Given the description of an element on the screen output the (x, y) to click on. 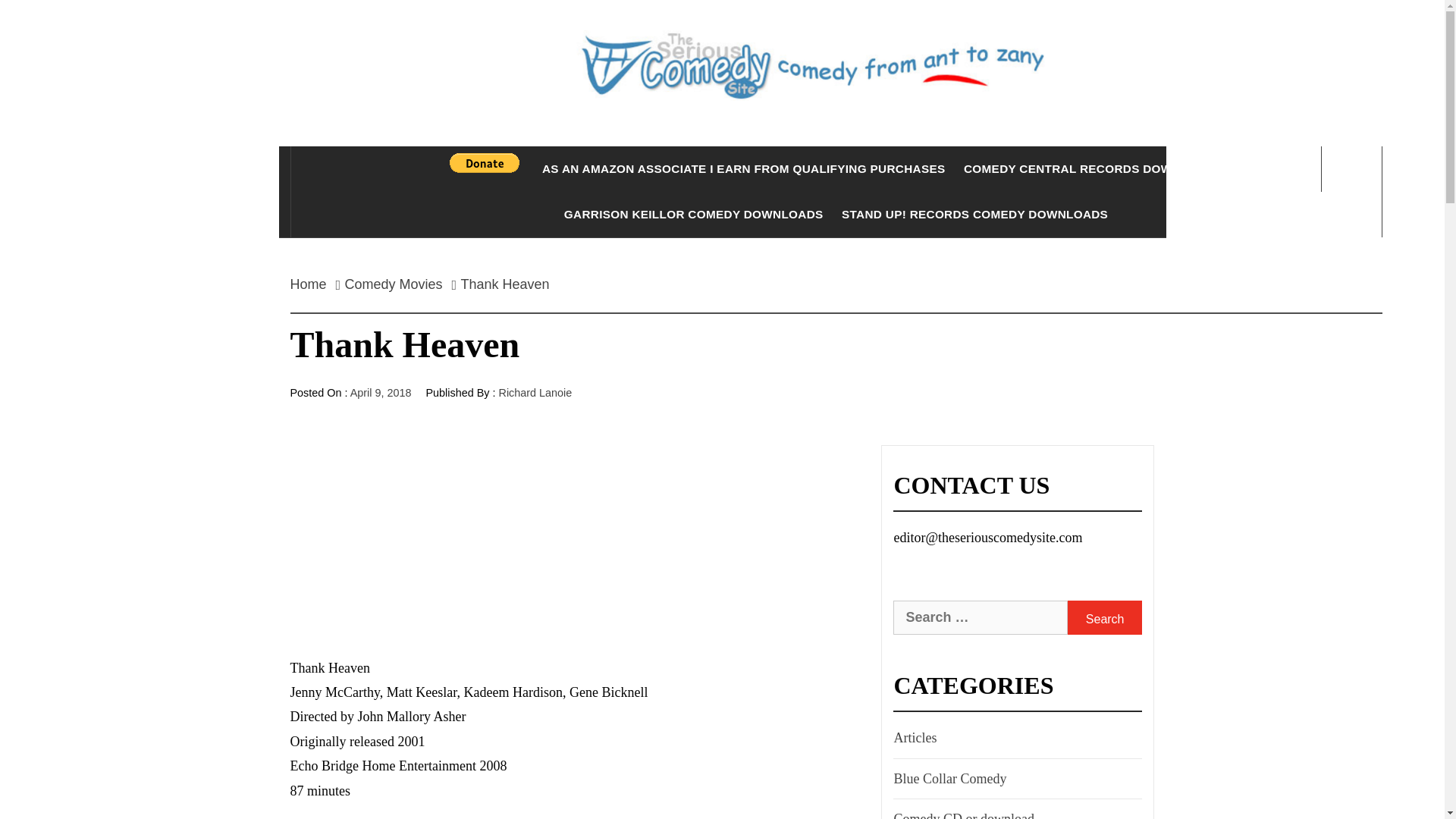
Comedy CD or download (961, 812)
Blue Collar Comedy (947, 778)
Search (1104, 617)
Articles (912, 737)
Thank Heaven (505, 283)
Richard Lanoie (535, 392)
THE SERIOUS COMEDY SITE (836, 164)
Comedy Movies (393, 283)
GARRISON KEILLOR COMEDY DOWNLOADS (693, 214)
April 9, 2018 (381, 392)
Search (797, 37)
Search (1104, 617)
Search (1104, 617)
PayPal - The safer, easier way to pay online! (484, 162)
AS AN AMAZON ASSOCIATE I EARN FROM QUALIFYING PURCHASES (743, 168)
